Given the description of an element on the screen output the (x, y) to click on. 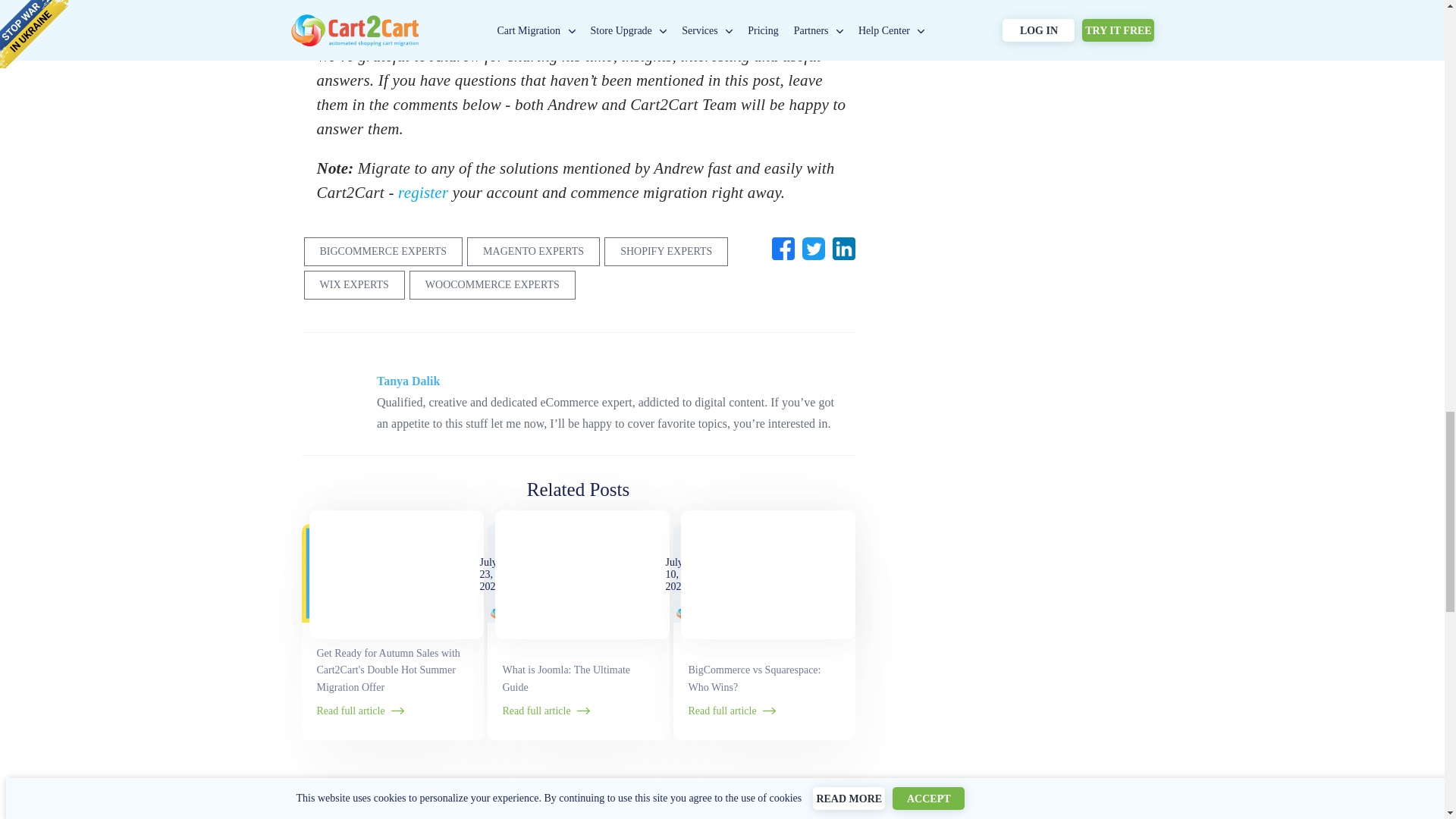
click to see more articles with that tag (382, 251)
